Given the description of an element on the screen output the (x, y) to click on. 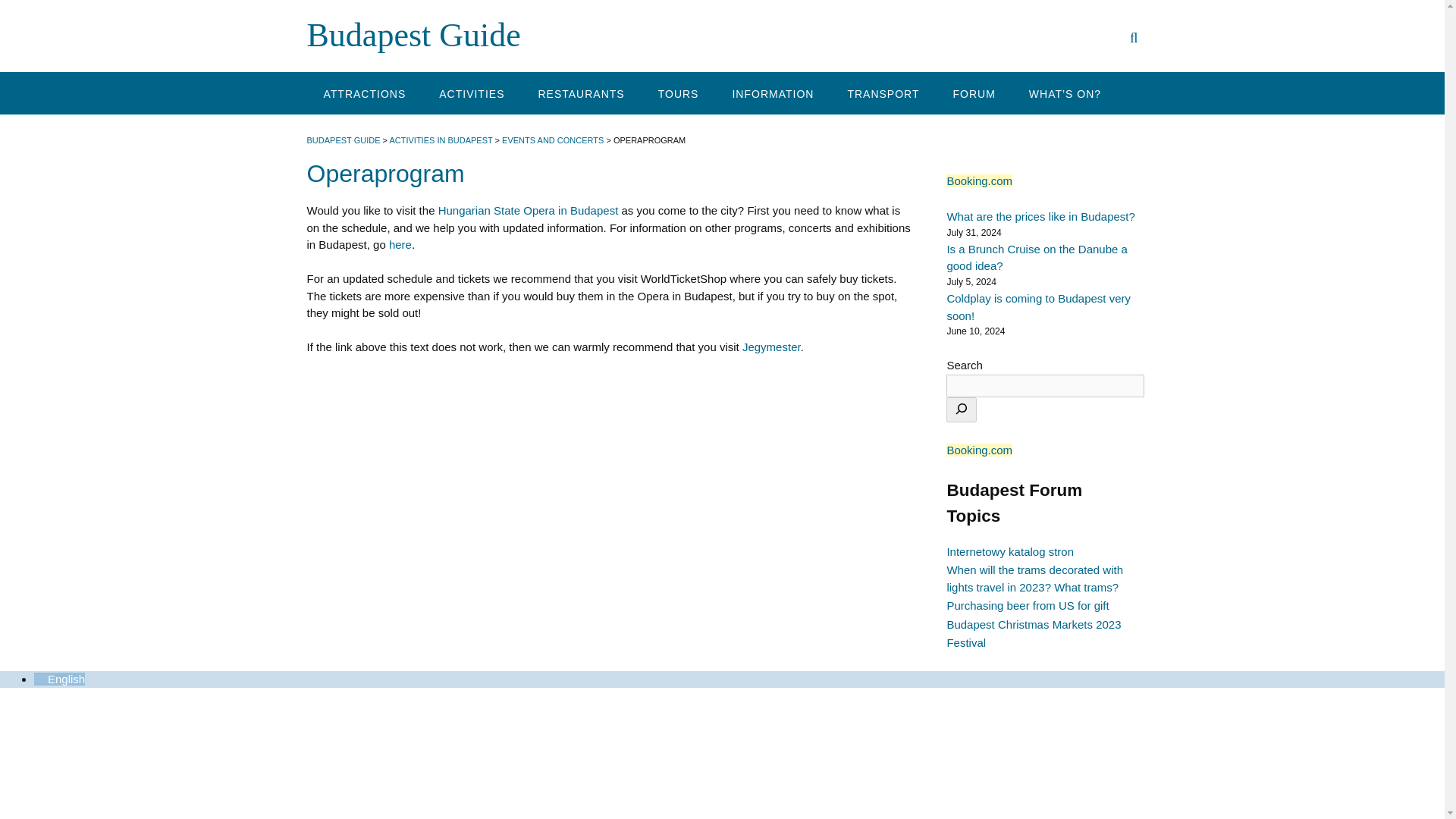
Go to Budapest Guide. (342, 139)
Go to Events and Concerts. (553, 139)
Budapest Guide (412, 35)
ATTRACTIONS (363, 92)
RESTAURANTS (580, 92)
Budapest Guide (412, 35)
Go to Activities in Budapest. (440, 139)
ACTIVITIES (471, 92)
